Given the description of an element on the screen output the (x, y) to click on. 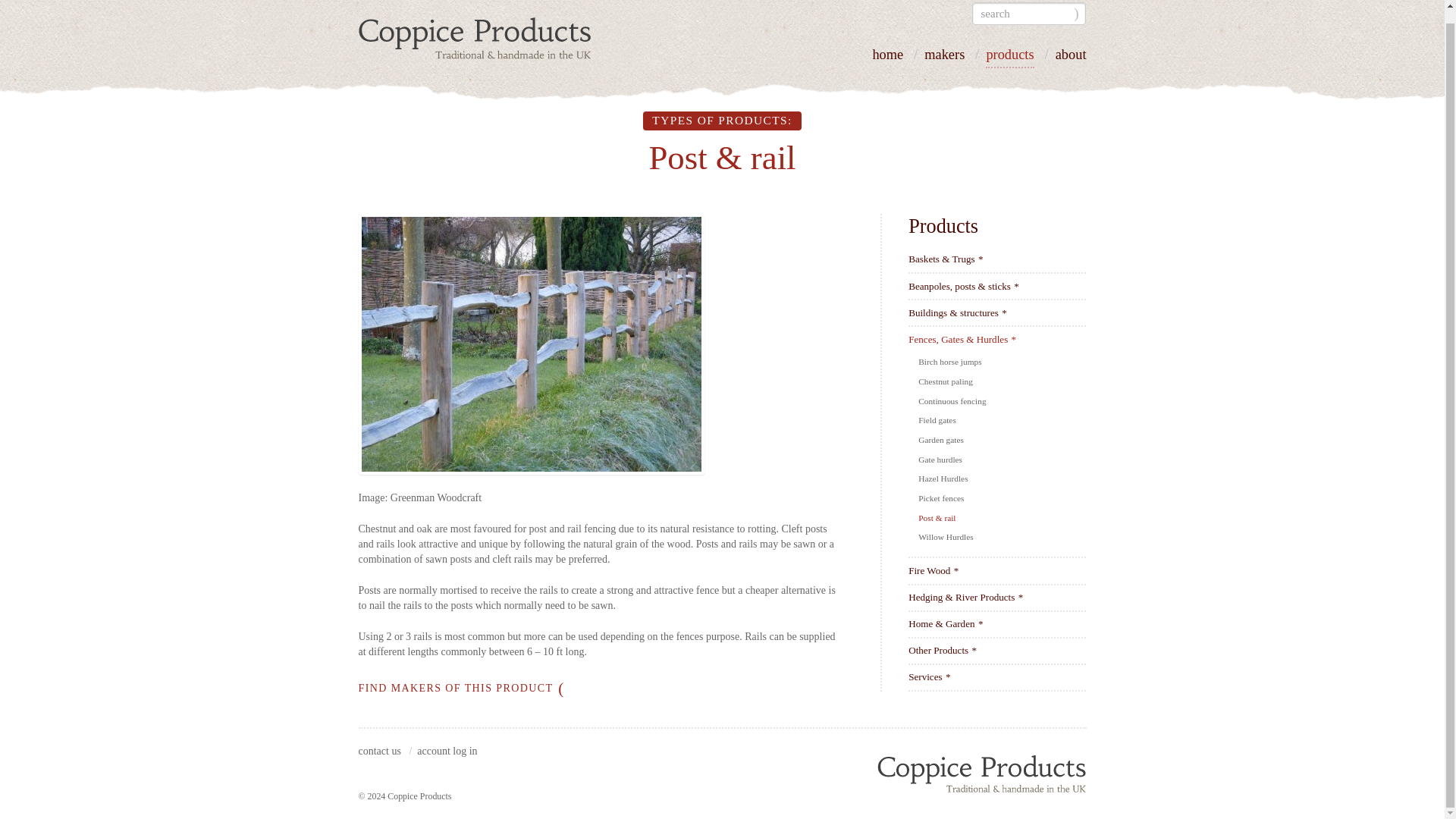
FIND MAKERS OF THIS PRODUCT (461, 688)
products (1009, 58)
Hazel Hurdles (944, 478)
Birch horse jumps (951, 361)
Garden gates (942, 439)
Continuous fencing (953, 400)
about (1070, 57)
Willow Hurdles (946, 536)
Fire Wood (933, 570)
Chestnut paling (946, 380)
Field gates (938, 420)
Gate hurdles (940, 459)
TYPES OF PRODUCTS: (722, 120)
makers (943, 57)
home (887, 57)
